Given the description of an element on the screen output the (x, y) to click on. 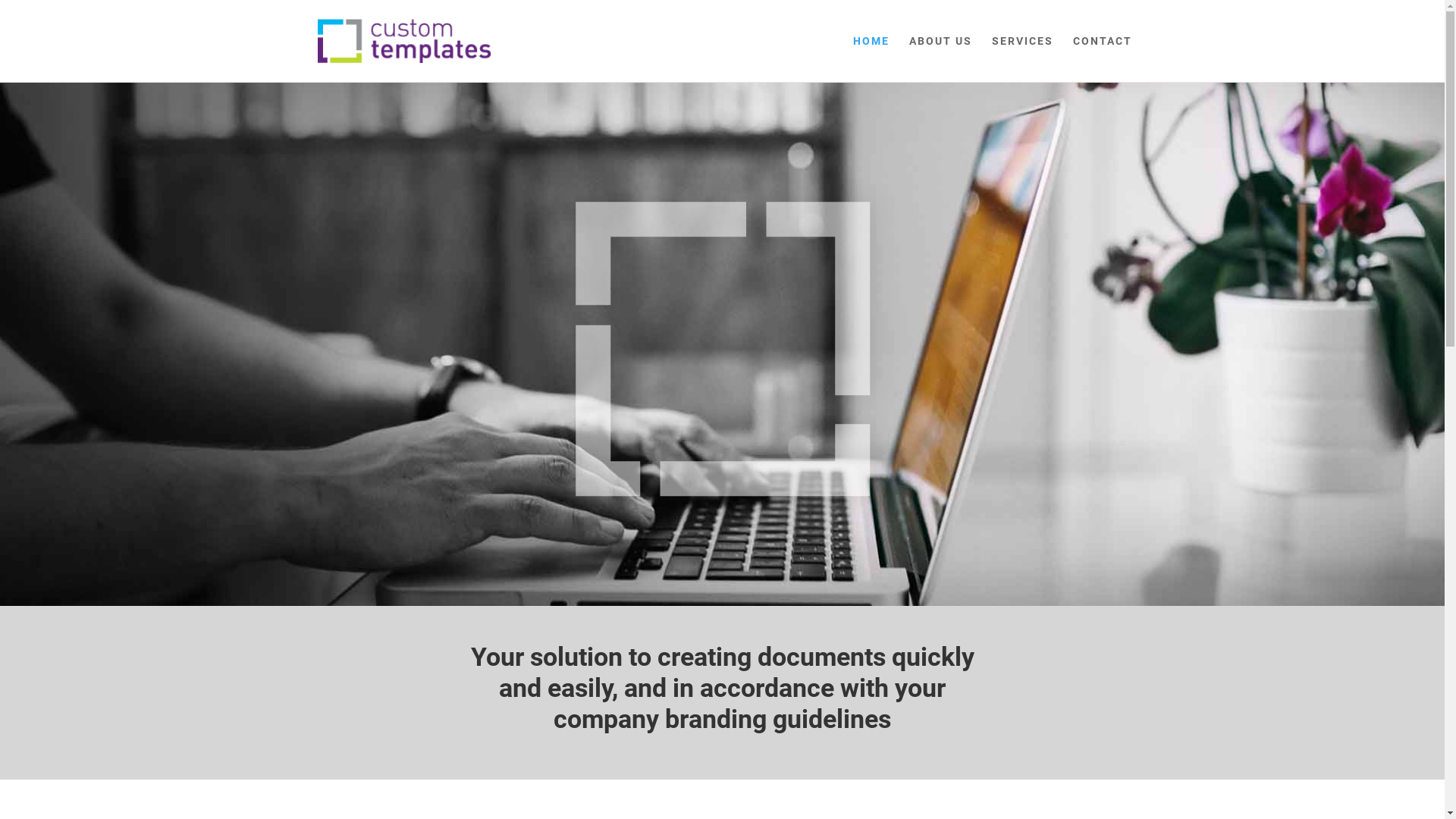
SERVICES Element type: text (1022, 58)
CONTACT Element type: text (1101, 58)
HOME Element type: text (870, 58)
ABOUT US Element type: text (939, 58)
